Given the description of an element on the screen output the (x, y) to click on. 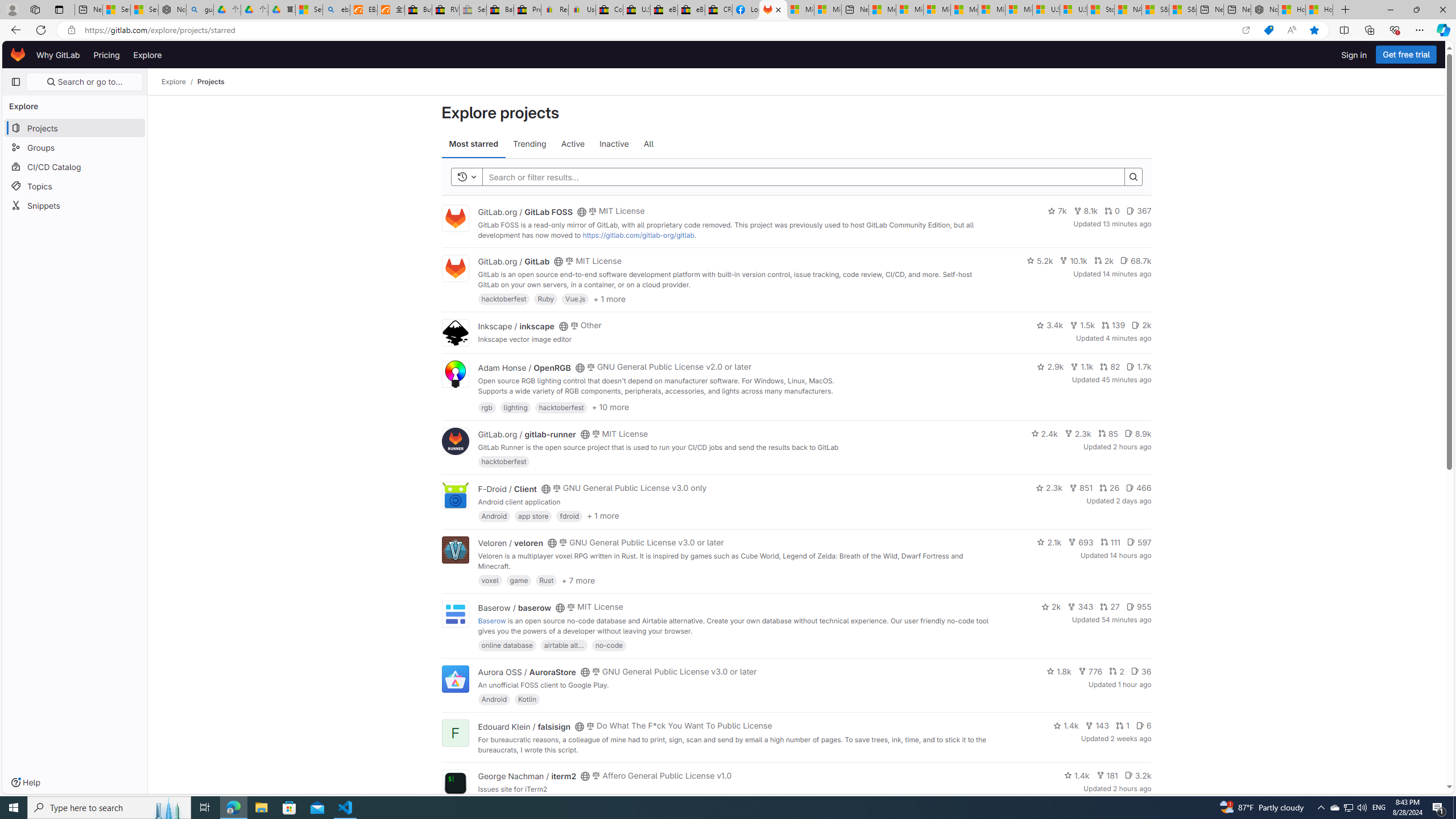
Explore (173, 81)
Snippets (74, 205)
Consumer Health Data Privacy Policy - eBay Inc. (609, 9)
Help (25, 782)
GitLab.org / GitLab (513, 261)
2.1k (1048, 541)
game (518, 579)
Explore/ (179, 81)
68.7k (1136, 259)
Press Room - eBay Inc. (527, 9)
Toggle history (466, 176)
Projects (211, 81)
Class: s14 gl-mr-2 (1128, 775)
